Given the description of an element on the screen output the (x, y) to click on. 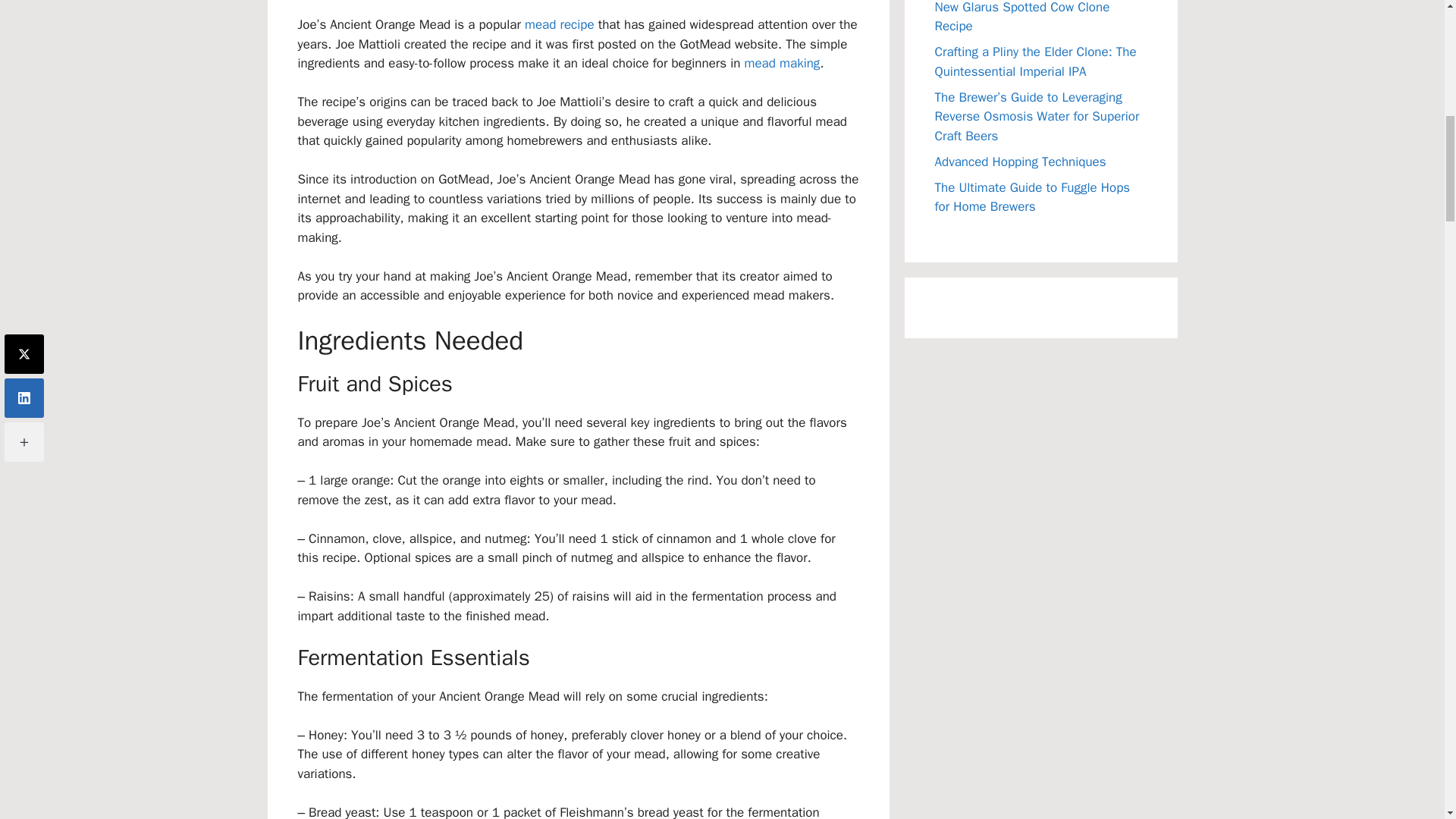
Scroll back to top (1406, 720)
mead making (782, 63)
mead recipe (559, 24)
